Given the description of an element on the screen output the (x, y) to click on. 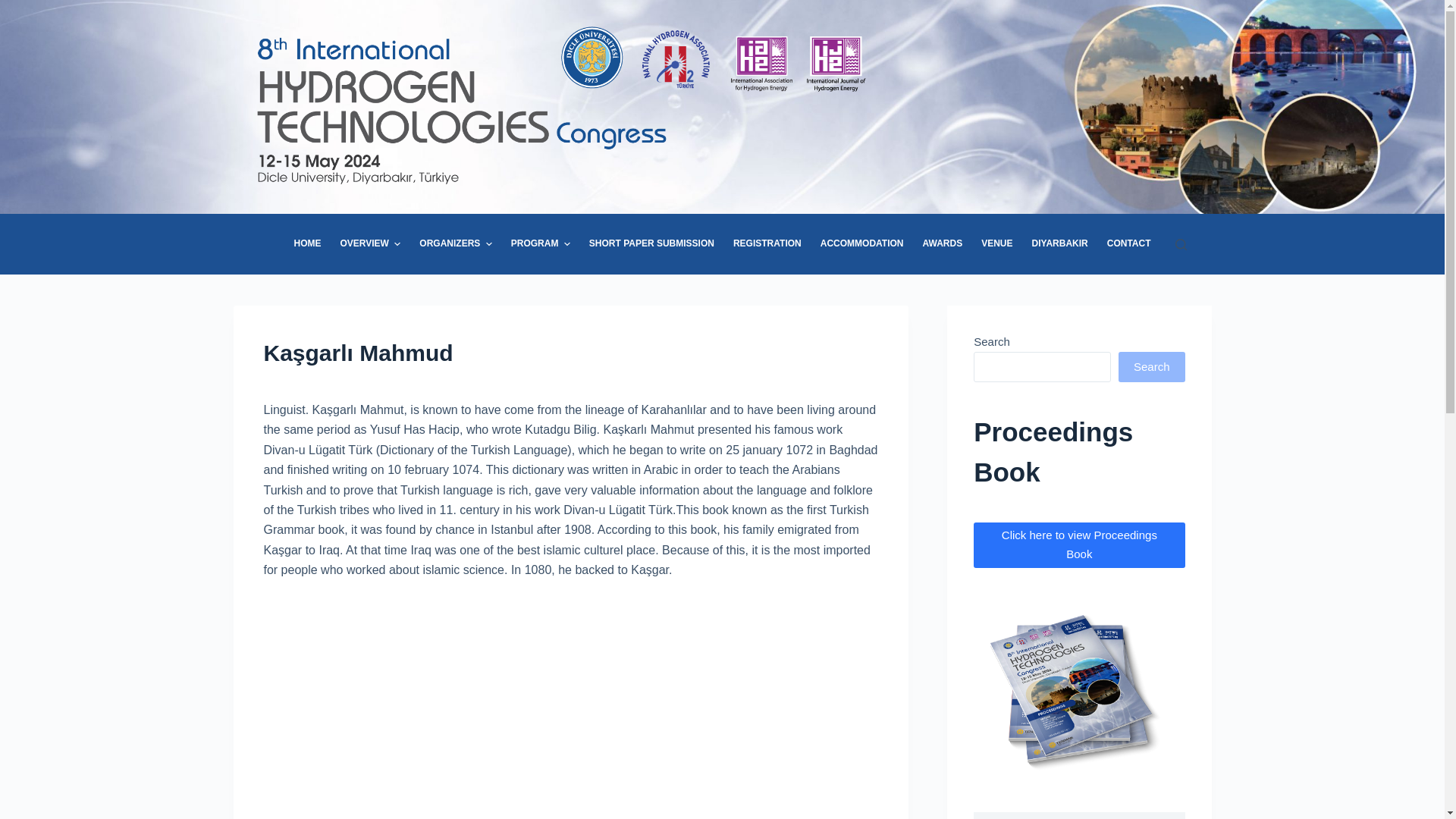
Skip to content (15, 7)
OVERVIEW (370, 243)
